Given the description of an element on the screen output the (x, y) to click on. 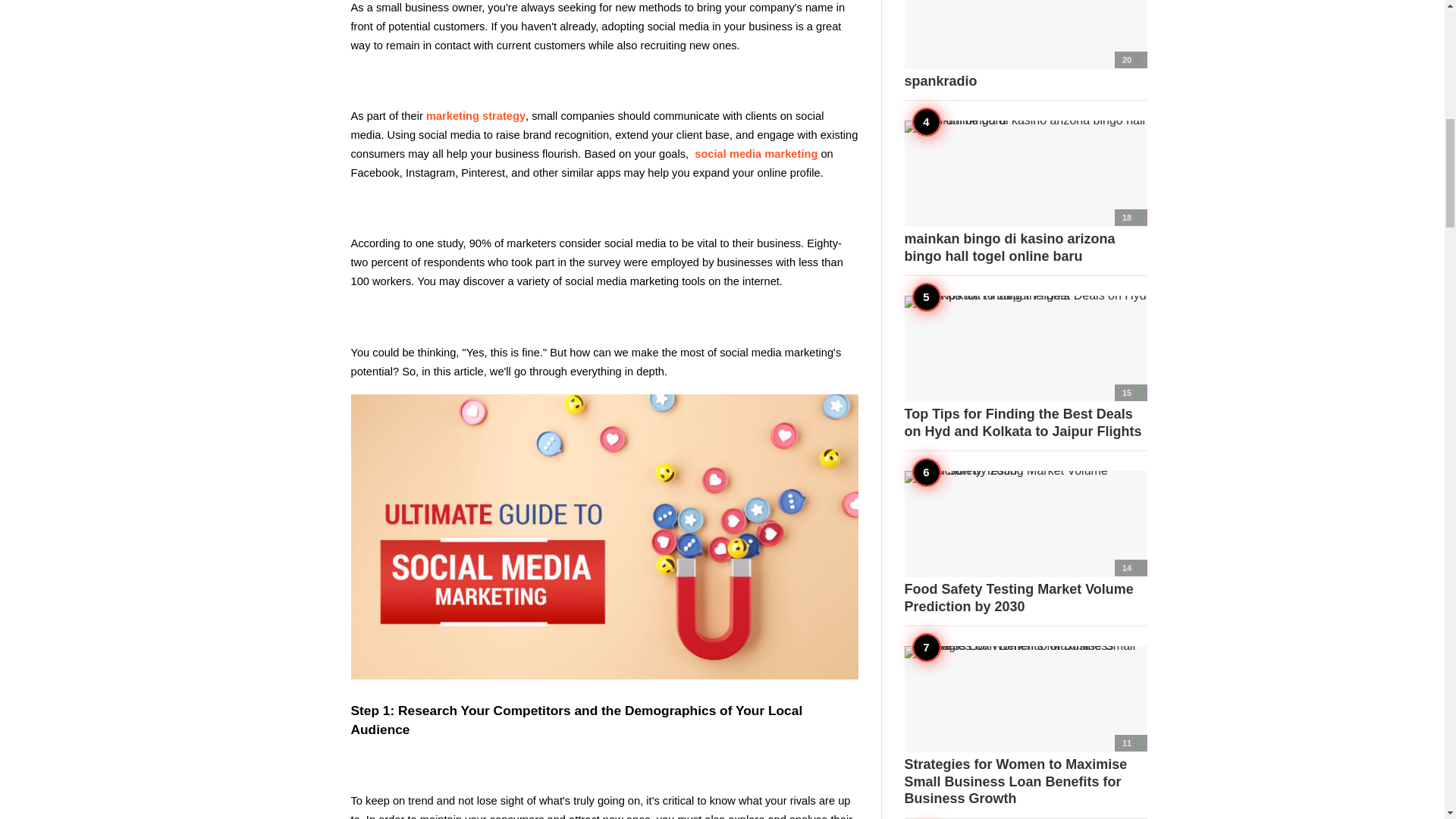
spankradio (1025, 44)
Food Safety Testing Market Volume Prediction by 2030 (1025, 542)
mainkan bingo di kasino arizona bingo hall togel online baru (1025, 192)
